Given the description of an element on the screen output the (x, y) to click on. 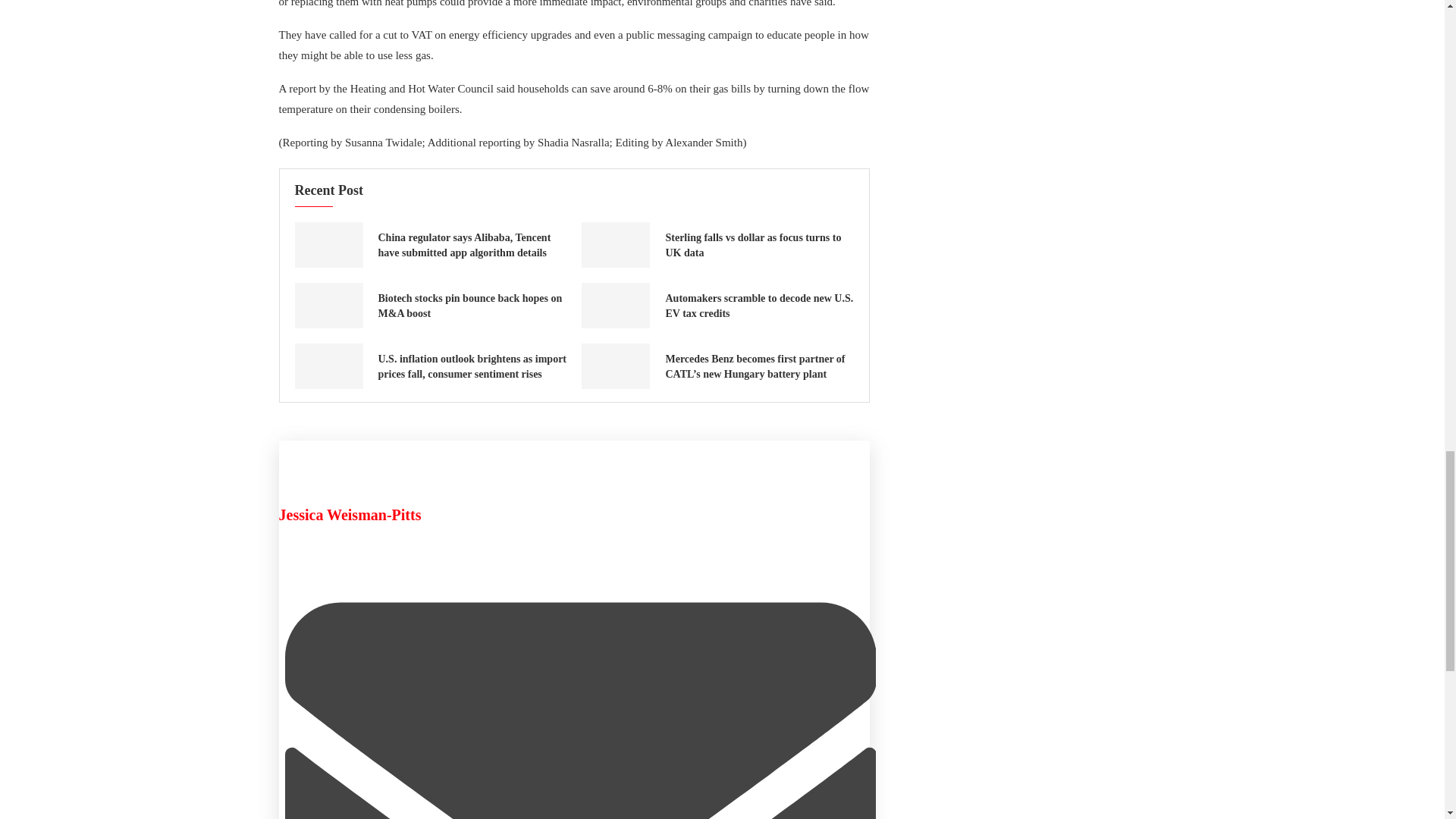
Automakers scramble to decode new U.S. EV tax credits (614, 305)
Sterling falls vs dollar as focus turns to UK data (614, 244)
